Given the description of an element on the screen output the (x, y) to click on. 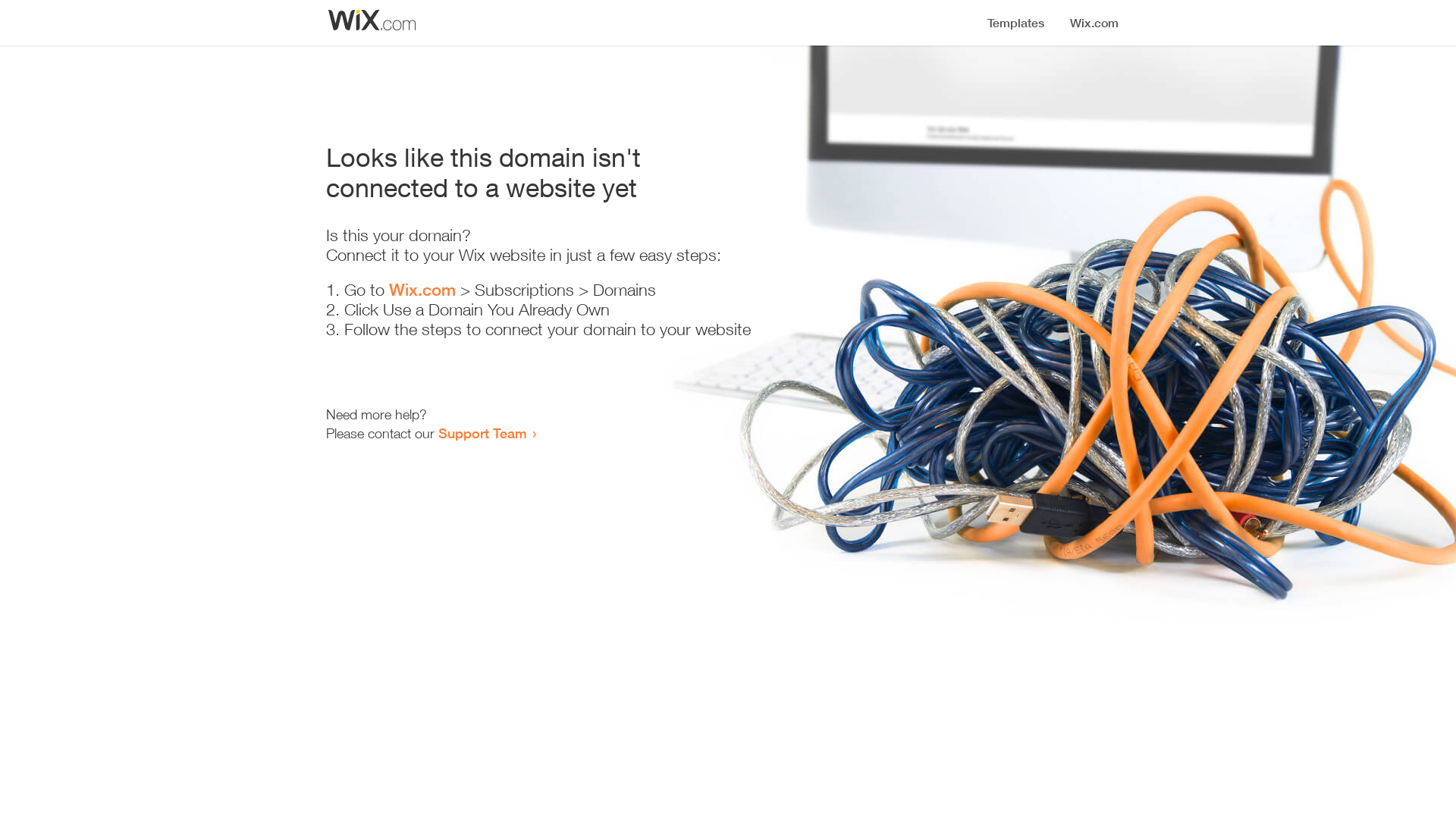
Wix.com Element type: text (422, 289)
Support Team Element type: text (482, 432)
